Given the description of an element on the screen output the (x, y) to click on. 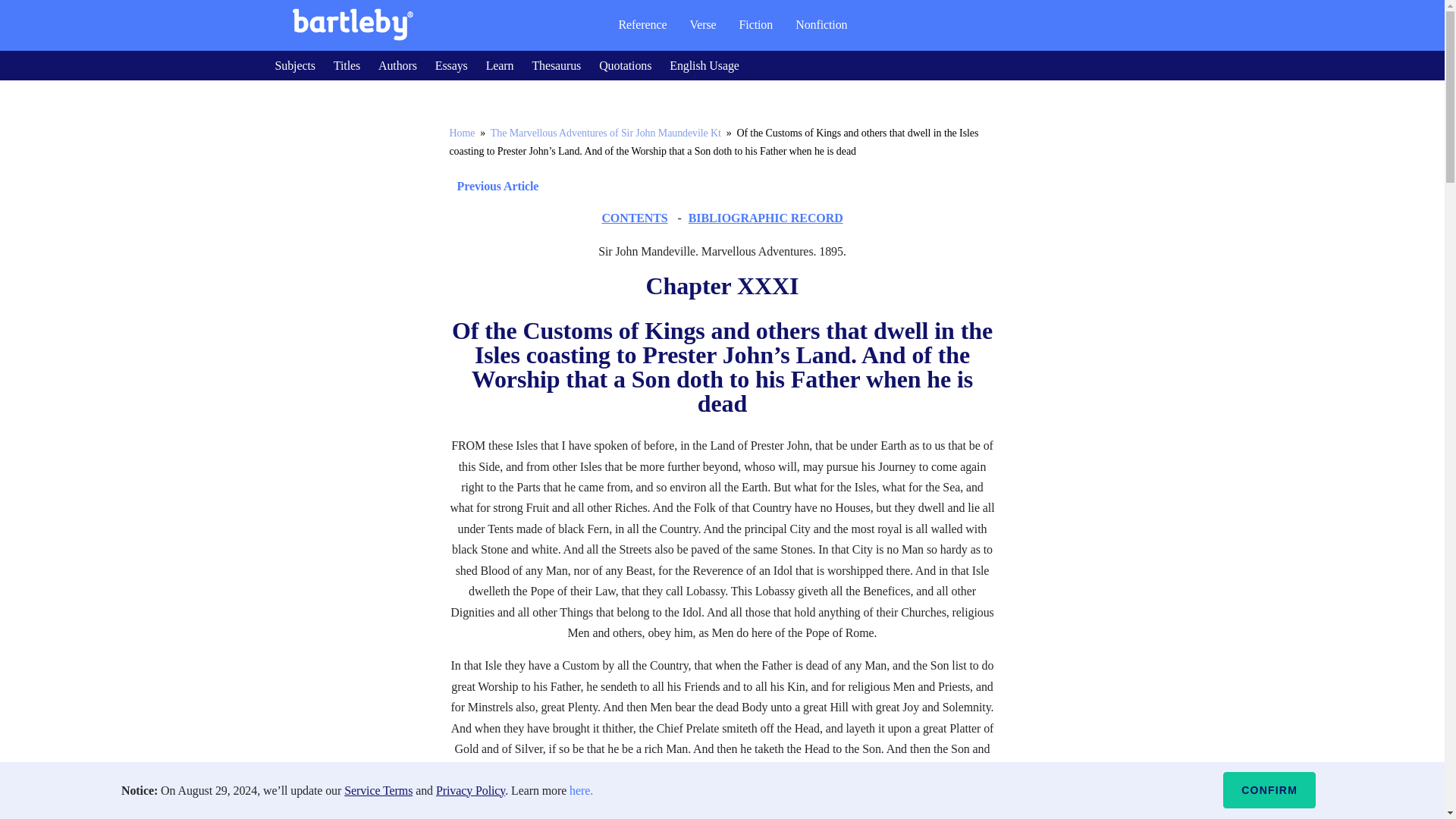
Learn (499, 65)
Thesaurus (555, 65)
Nonfiction (821, 24)
Essays (451, 65)
Authors (397, 65)
Previous Article (493, 186)
Subjects (294, 65)
Titles (346, 65)
Reference (642, 24)
Quotations (624, 65)
Verse (702, 24)
CONTENTS (633, 217)
Fiction (756, 24)
The Marvellous Adventures of Sir John Maundevile Kt (605, 132)
BIBLIOGRAPHIC RECORD (765, 217)
